Given the description of an element on the screen output the (x, y) to click on. 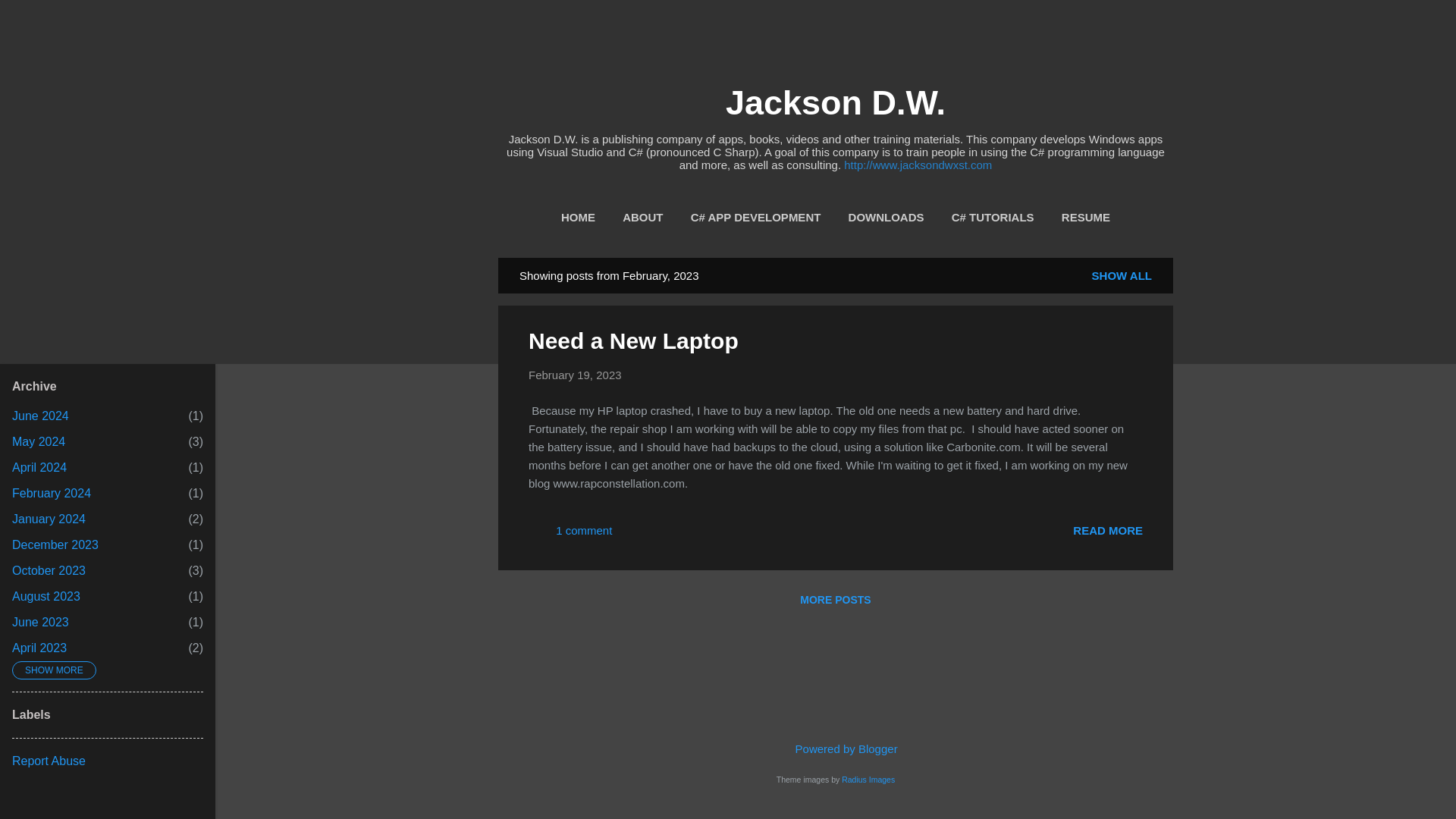
February 19, 2023 (574, 374)
1 comment (569, 535)
READ MORE (38, 440)
Search (1107, 529)
permanent link (29, 18)
More posts (574, 374)
Need a New Laptop (834, 599)
